Given the description of an element on the screen output the (x, y) to click on. 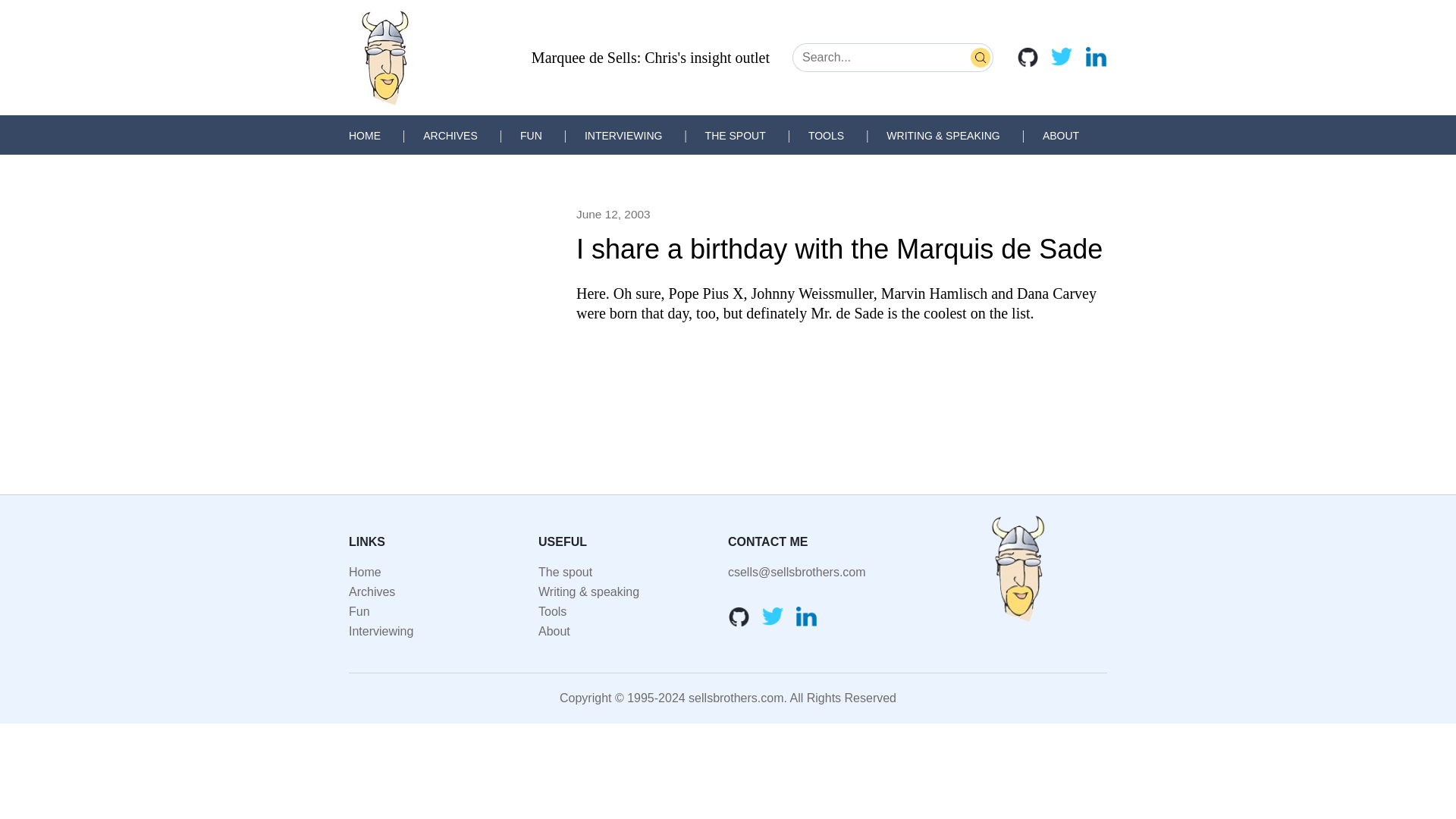
Home (365, 571)
ARCHIVES (450, 135)
Here (590, 293)
LinkedIn (806, 616)
LinkedIn (1095, 56)
June 12, 2003 (613, 214)
THE SPOUT (734, 135)
Tools (552, 611)
HOME (364, 135)
Twitter (1061, 56)
INTERVIEWING (623, 135)
GitHub (1027, 56)
Fun (359, 611)
The spout (565, 571)
Marquee de Sells: Chris's insight outlet (650, 57)
